Given the description of an element on the screen output the (x, y) to click on. 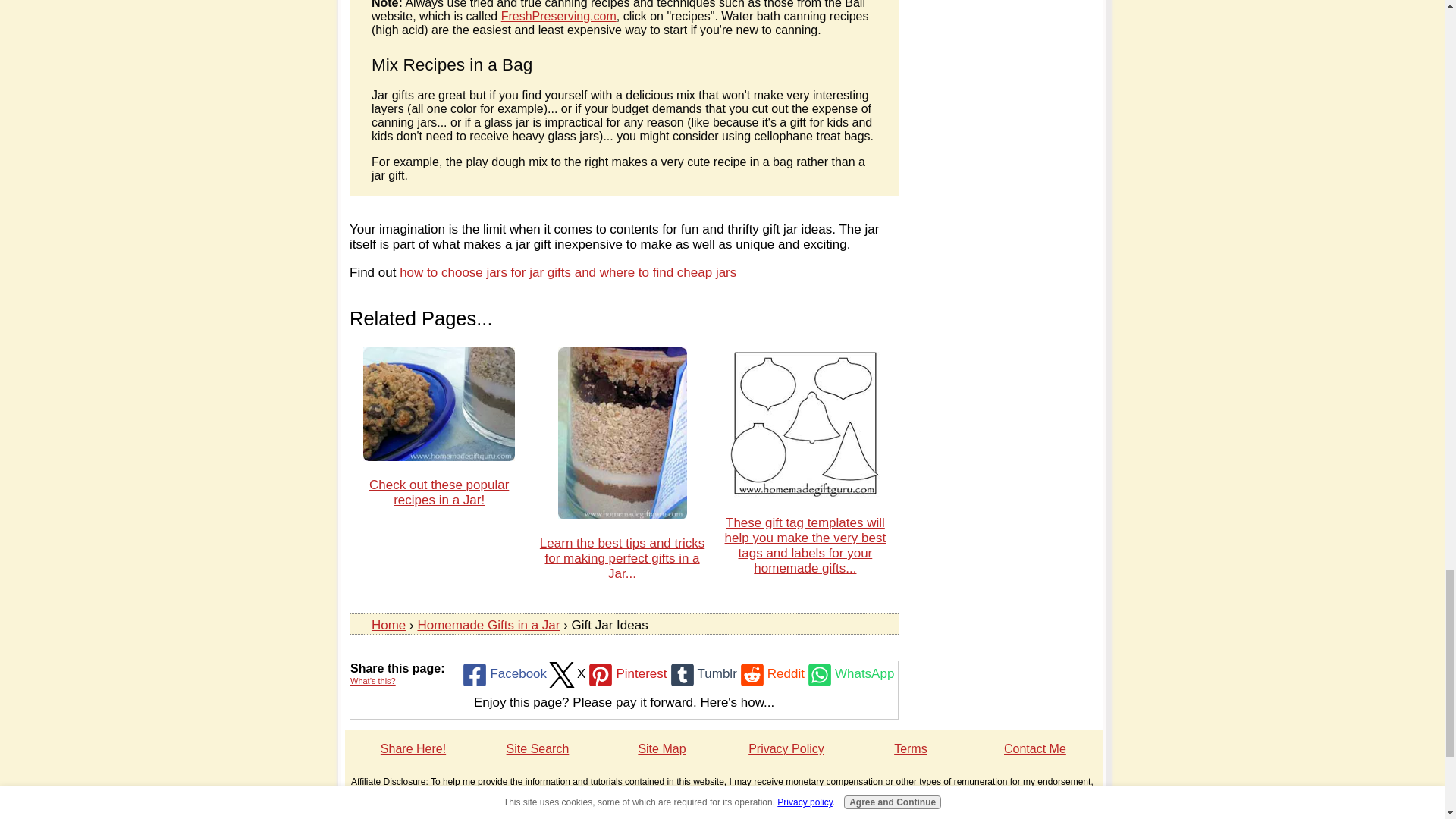
Go to Best Gifts in a Jar Tips, Tricks and Instructions (622, 514)
Go to Recipes in a Jar (438, 456)
Go to Free Printable Crafts and Templates (804, 494)
